Given the description of an element on the screen output the (x, y) to click on. 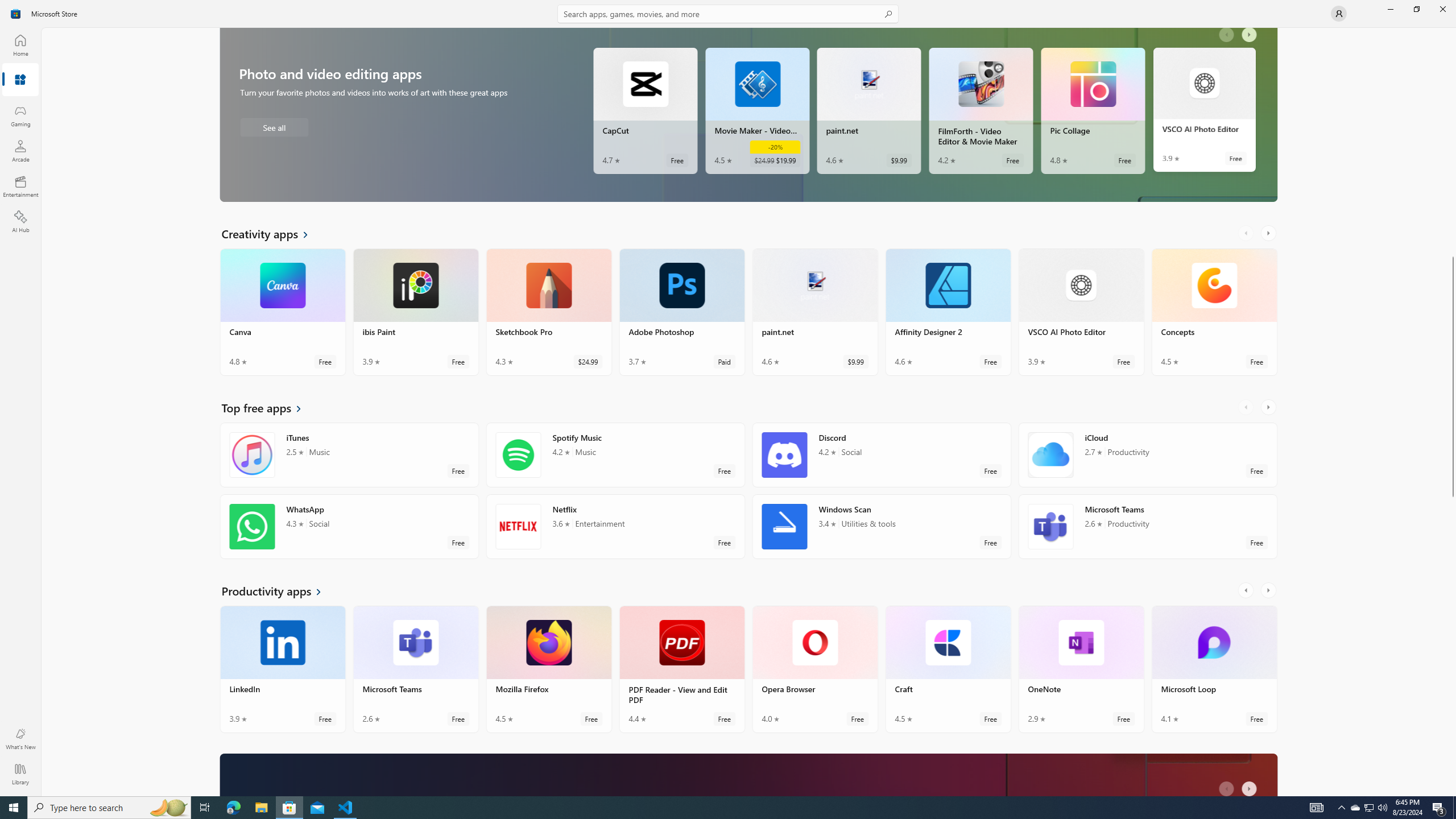
Minimize Microsoft Store (1390, 9)
Gaming (20, 115)
LinkedIn. Average rating of 3.9 out of five stars. Free   (282, 669)
AutomationID: NavigationControl (728, 398)
Restore Microsoft Store (1416, 9)
See all  Top free apps (268, 407)
Concepts. Average rating of 4.5 out of five stars. Free   (1213, 311)
